Given the description of an element on the screen output the (x, y) to click on. 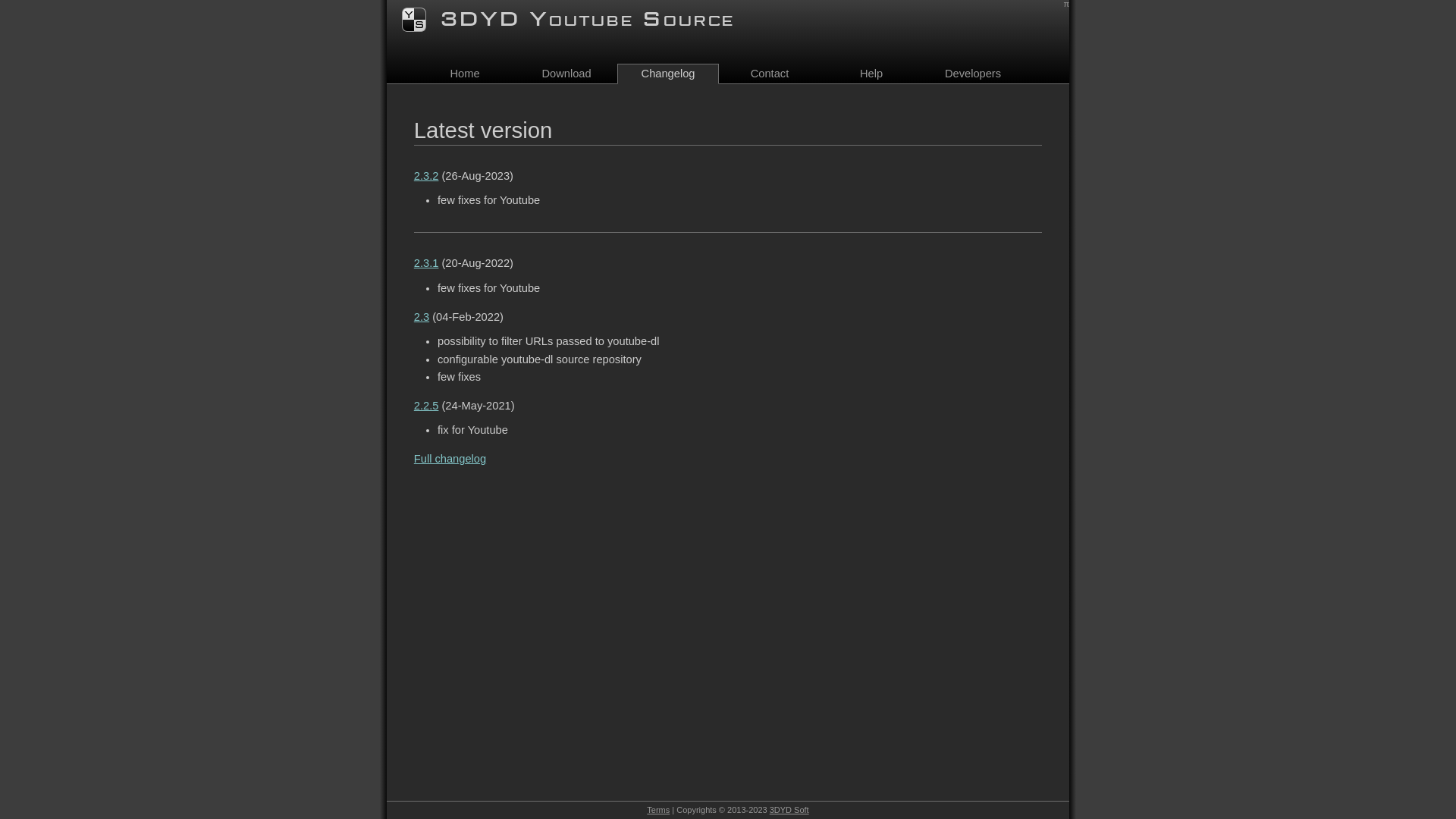
3DYD Soft Element type: text (789, 809)
2.2.5 Element type: text (426, 405)
2.3.1 Element type: text (426, 263)
Terms Element type: text (657, 809)
Full changelog Element type: text (450, 458)
2.3.2 Element type: text (426, 175)
2.3 Element type: text (421, 316)
Contact Element type: text (769, 73)
Download Element type: text (566, 73)
Home Element type: text (464, 73)
Help Element type: text (871, 73)
Developers Element type: text (972, 73)
